Given the description of an element on the screen output the (x, y) to click on. 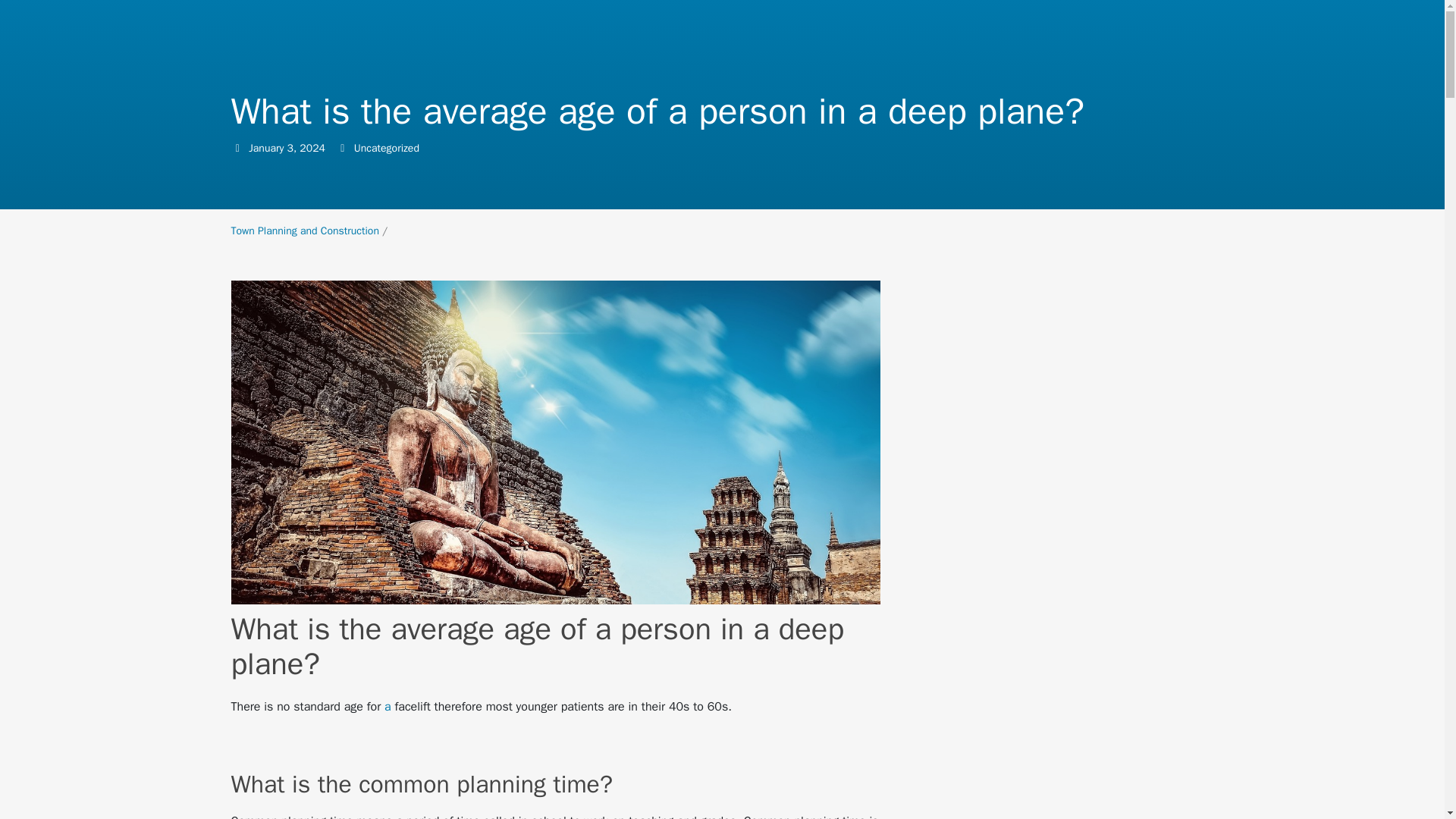
2024 (311, 147)
January (265, 147)
